Given the description of an element on the screen output the (x, y) to click on. 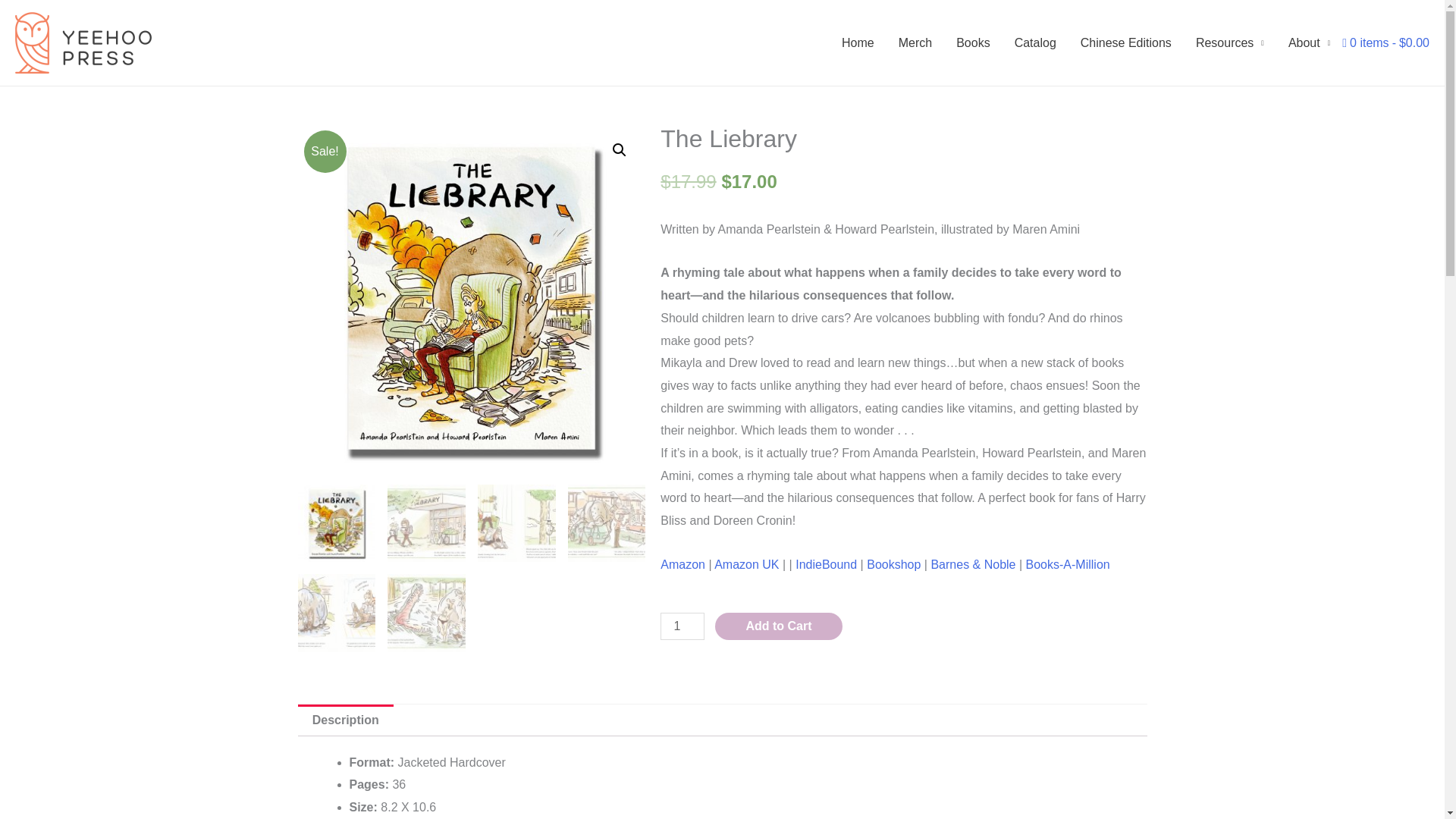
Add to Cart (777, 625)
Start shopping (1385, 42)
1 (682, 625)
Resources (1229, 42)
Chinese Editions (1125, 42)
Books-A-Million (1067, 563)
Bookshop (893, 563)
IndieBound (825, 563)
Home (857, 42)
The Liebrary-cover (471, 298)
Books (972, 42)
Description (345, 720)
About (1309, 42)
Amazon (682, 563)
Merch (914, 42)
